Given the description of an element on the screen output the (x, y) to click on. 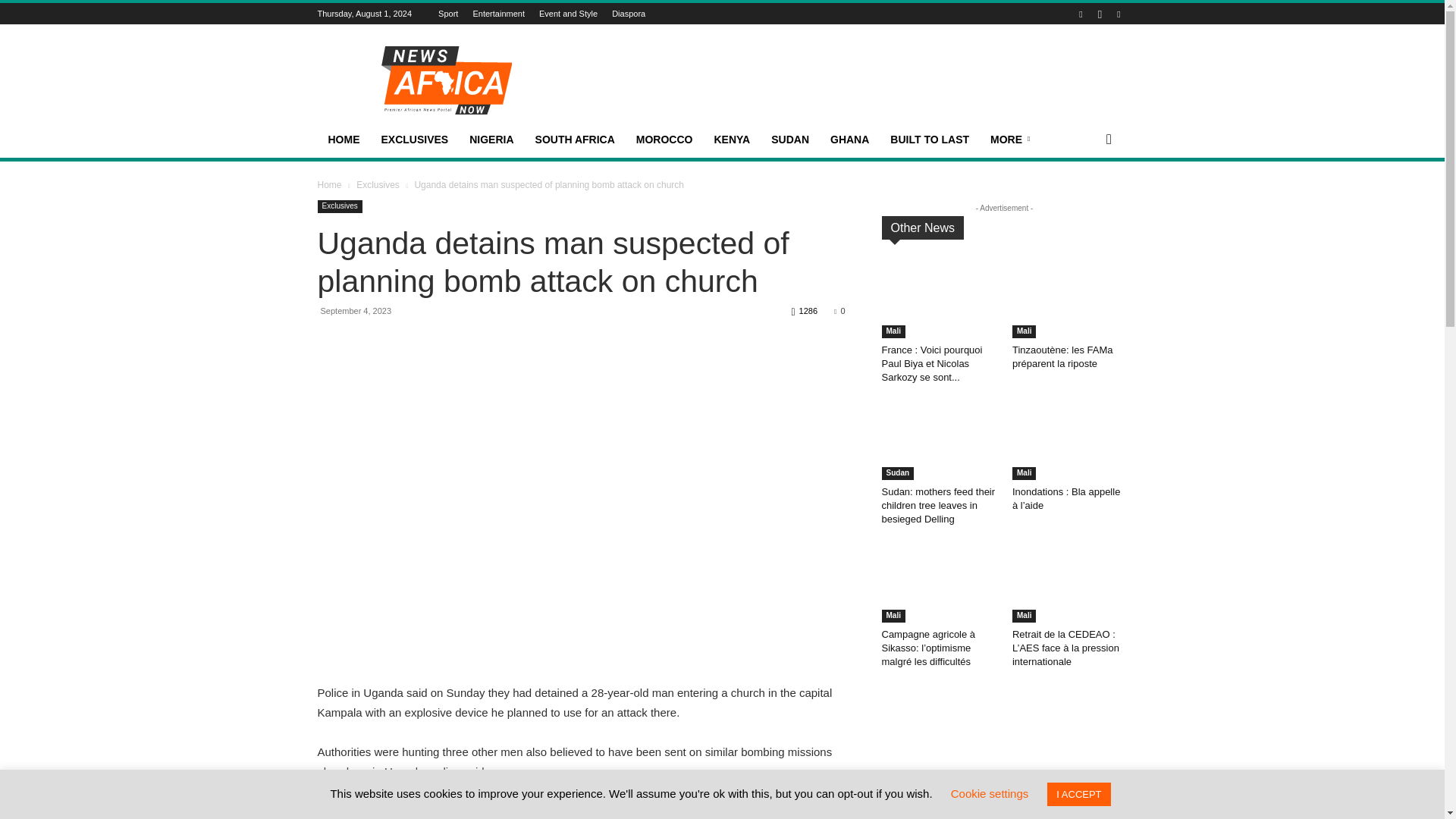
Diaspora (628, 13)
EXCLUSIVES (413, 139)
MOROCCO (664, 139)
NIGERIA (491, 139)
Entertainment (497, 13)
SOUTH AFRICA (575, 139)
Sport (448, 13)
HOME (343, 139)
View all posts in Exclusives (377, 184)
Event and Style (567, 13)
